Given the description of an element on the screen output the (x, y) to click on. 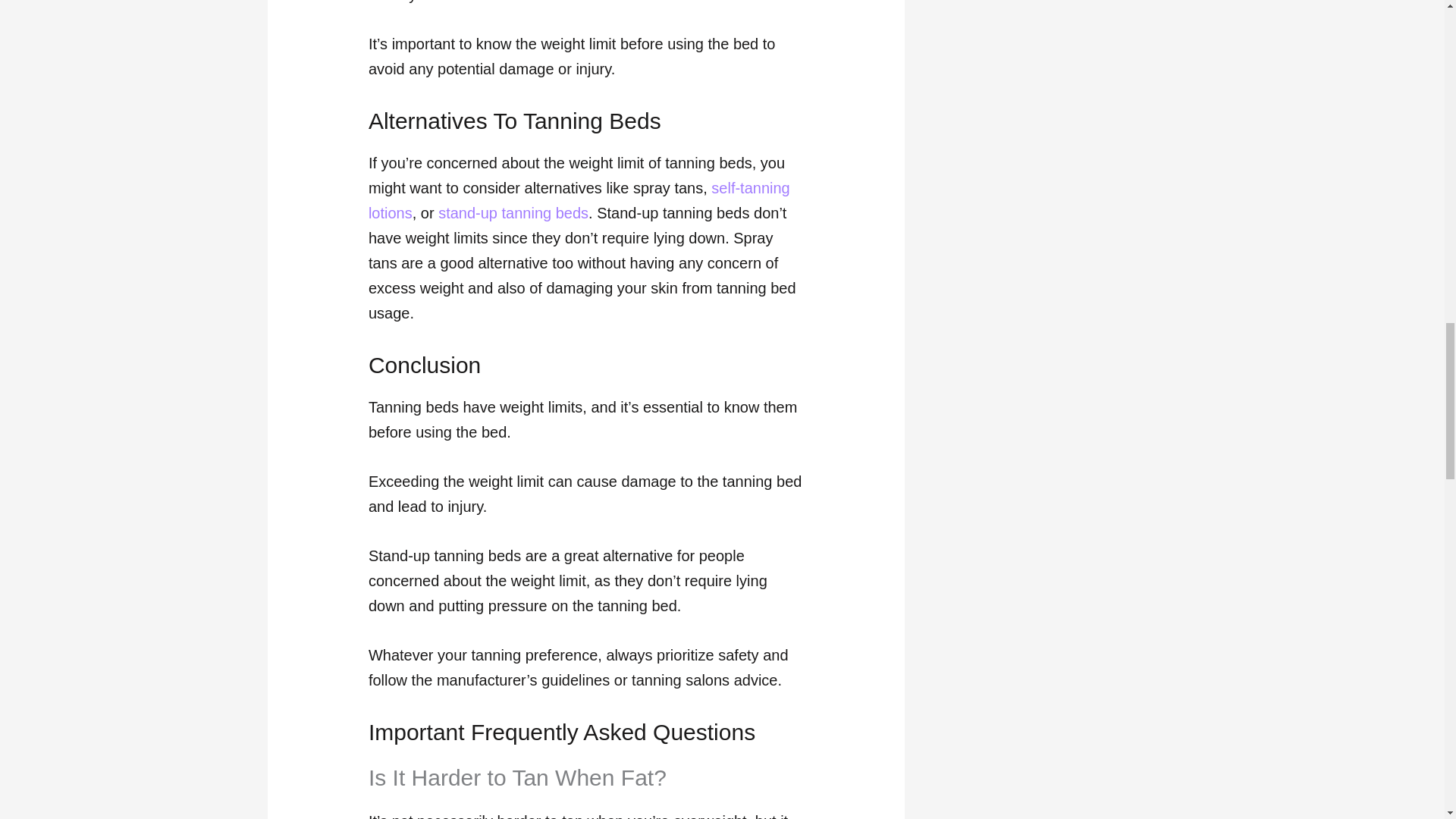
stand-up tanning beds (513, 212)
self-tanning lotions (579, 200)
